Given the description of an element on the screen output the (x, y) to click on. 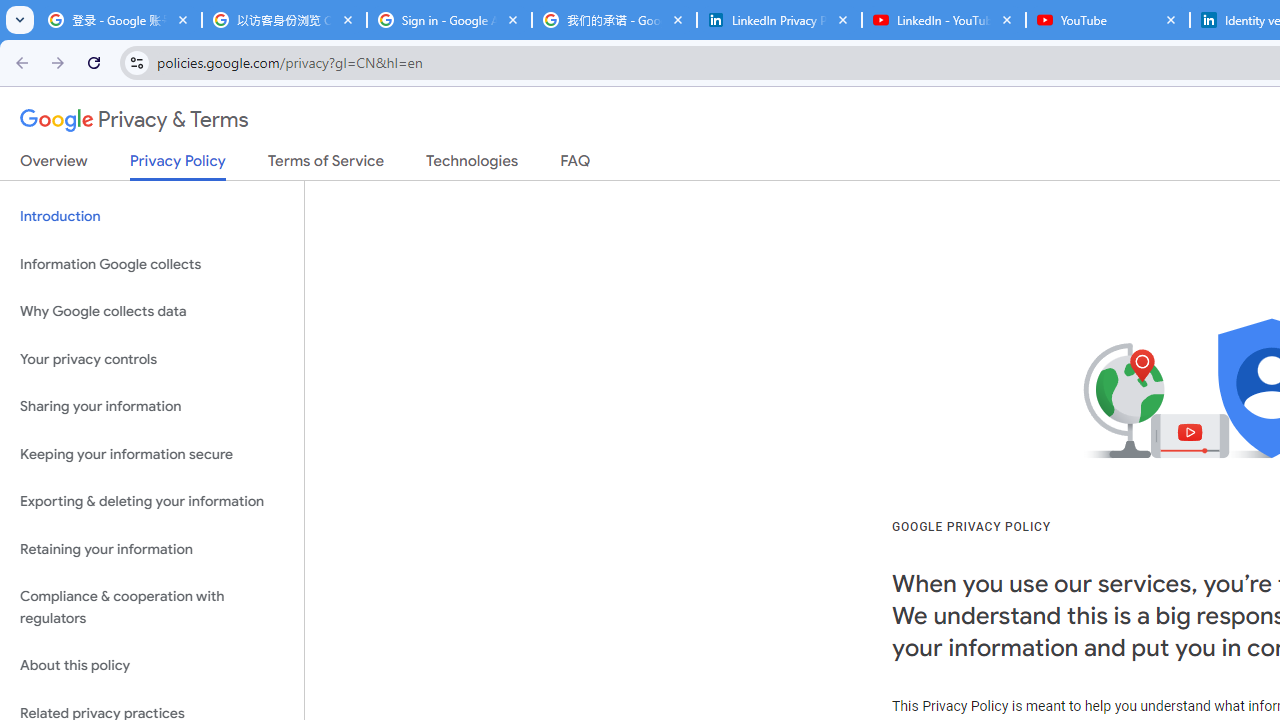
Keeping your information secure (152, 453)
About this policy (152, 666)
Retaining your information (152, 548)
Sign in - Google Accounts (449, 20)
Sharing your information (152, 407)
Exporting & deleting your information (152, 502)
LinkedIn - YouTube (943, 20)
